Given the description of an element on the screen output the (x, y) to click on. 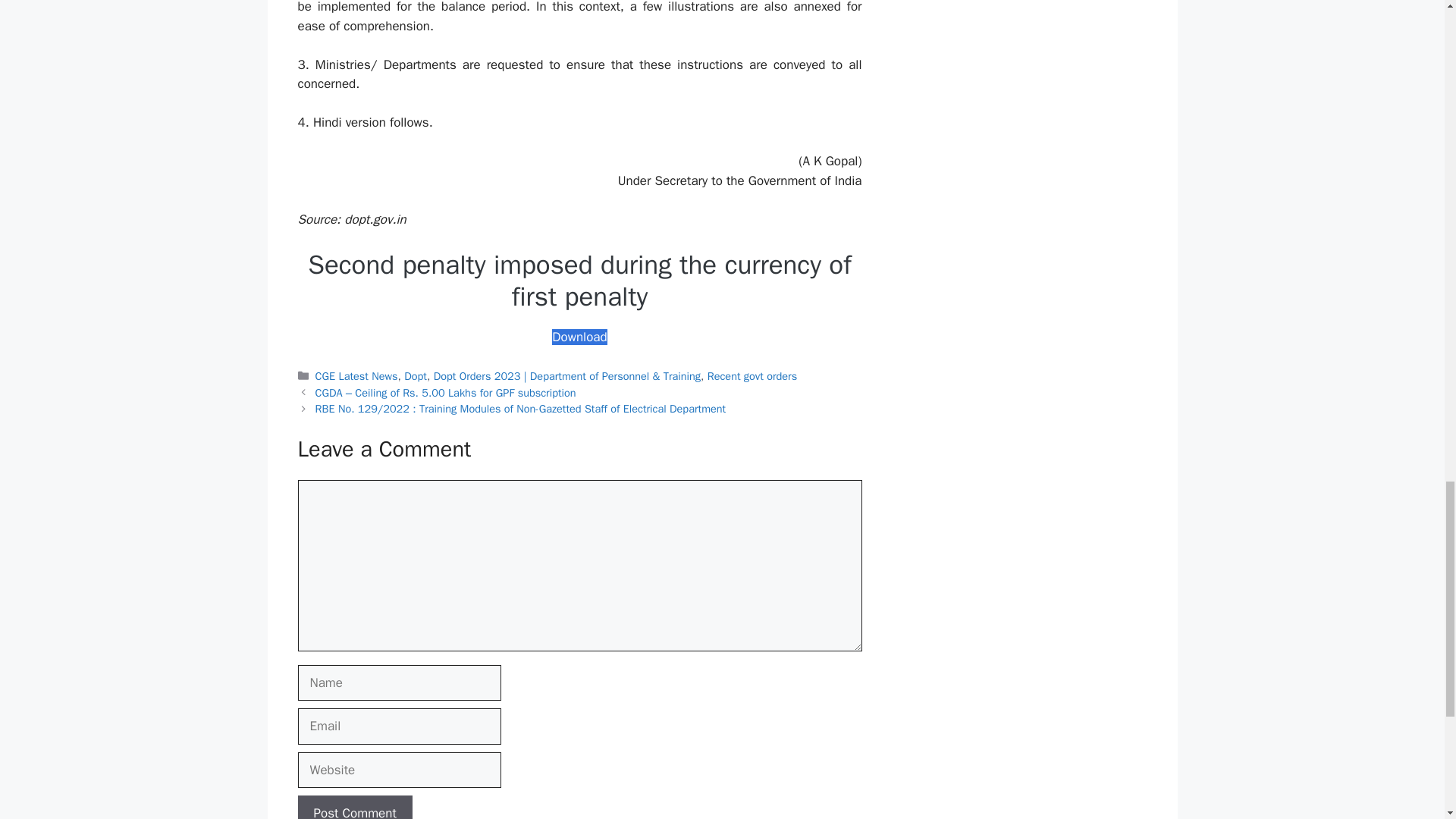
CGE Latest News (356, 376)
Download (579, 336)
Post Comment (354, 807)
Post Comment (354, 807)
Recent govt orders (752, 376)
Dopt (415, 376)
